Given the description of an element on the screen output the (x, y) to click on. 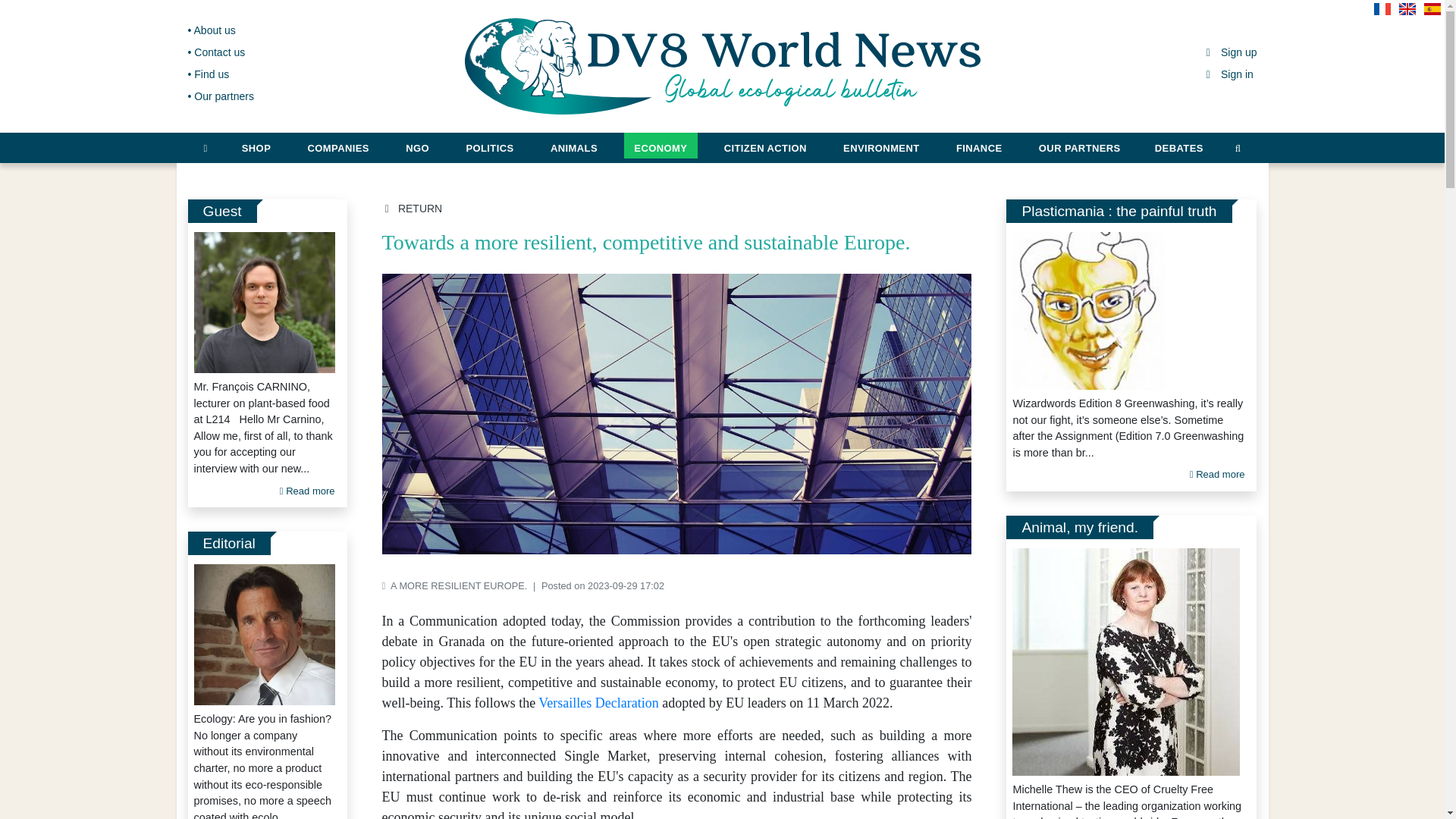
Ecology: Are you in fashion? (263, 634)
English (1410, 13)
COMPANIES (338, 145)
SHOP (256, 145)
Cruelty Free International (1125, 661)
Sign in (1227, 73)
Sign up (1229, 51)
